Given the description of an element on the screen output the (x, y) to click on. 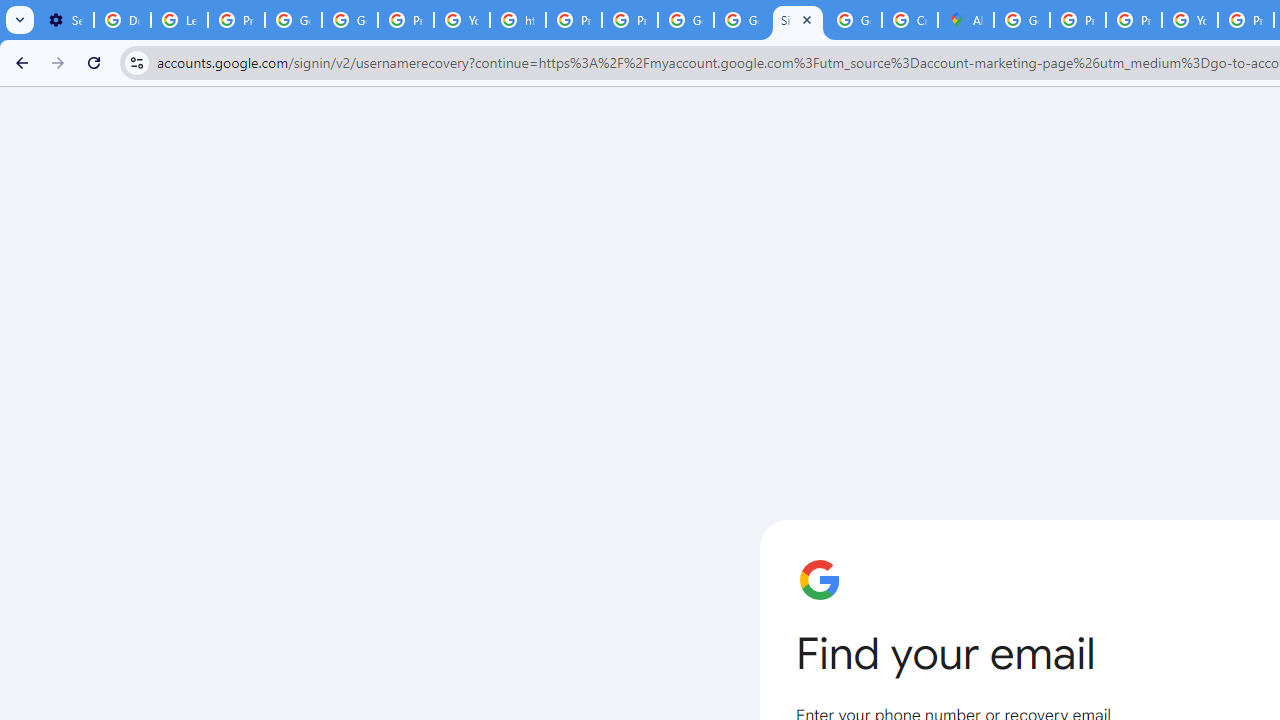
Create your Google Account (909, 20)
Privacy Help Center - Policies Help (1077, 20)
Sign in - Google Accounts (797, 20)
Privacy Help Center - Policies Help (573, 20)
